Given the description of an element on the screen output the (x, y) to click on. 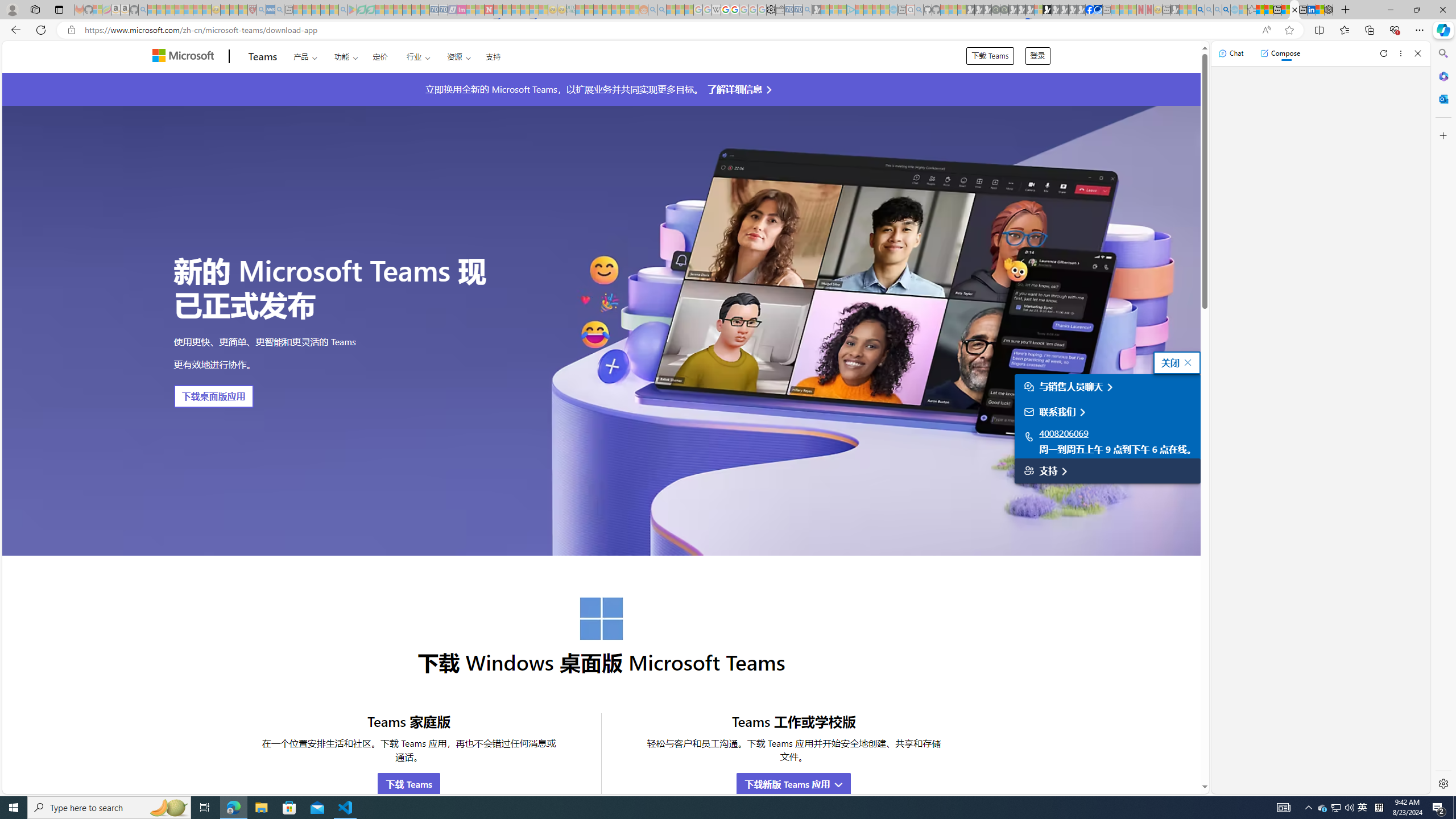
Cheap Hotels - Save70.com - Sleeping (442, 9)
Privacy Help Center - Policies Help (725, 9)
DITOGAMES AG Imprint - Sleeping (570, 9)
The Weather Channel - MSN - Sleeping (170, 9)
